Given the description of an element on the screen output the (x, y) to click on. 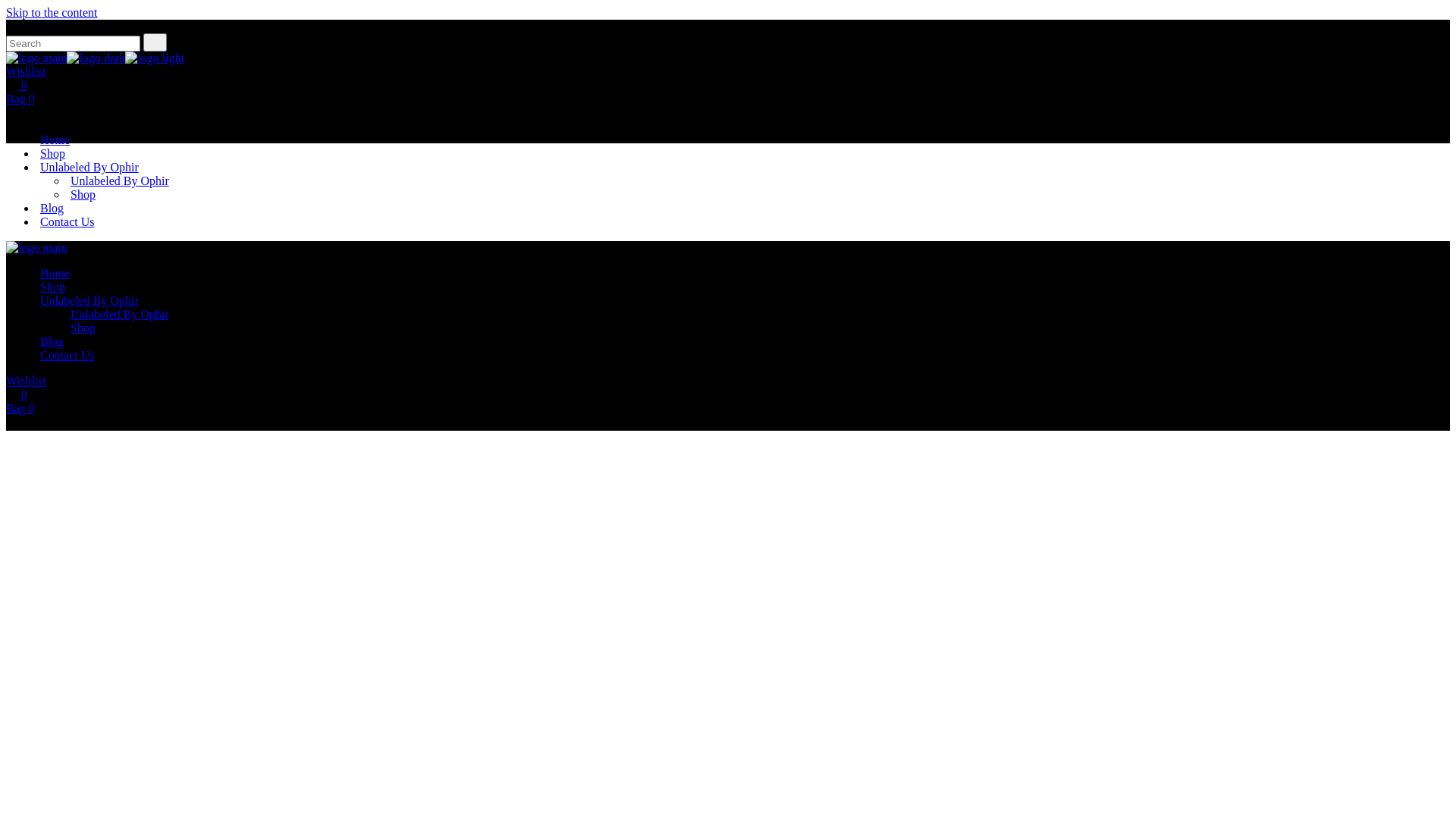
Home Element type: text (54, 272)
Wishlist
0 Element type: text (727, 387)
Shop Element type: text (82, 327)
Bag 0 Element type: text (727, 106)
Unlabeled By Ophir Element type: text (89, 166)
Bag 0 Element type: text (727, 415)
Blog Element type: text (51, 207)
Home Element type: text (54, 139)
Unlabeled By Ophir Element type: text (119, 313)
Shop Element type: text (52, 153)
Contact Us Element type: text (67, 354)
Unlabeled By Ophir Element type: text (119, 180)
Shop Element type: text (52, 286)
Shop Element type: text (82, 194)
Skip to the content Element type: text (51, 12)
Unlabeled By Ophir Element type: text (89, 300)
Contact Us Element type: text (67, 221)
Wishlist
0 Element type: text (727, 78)
Blog Element type: text (51, 341)
